Given the description of an element on the screen output the (x, y) to click on. 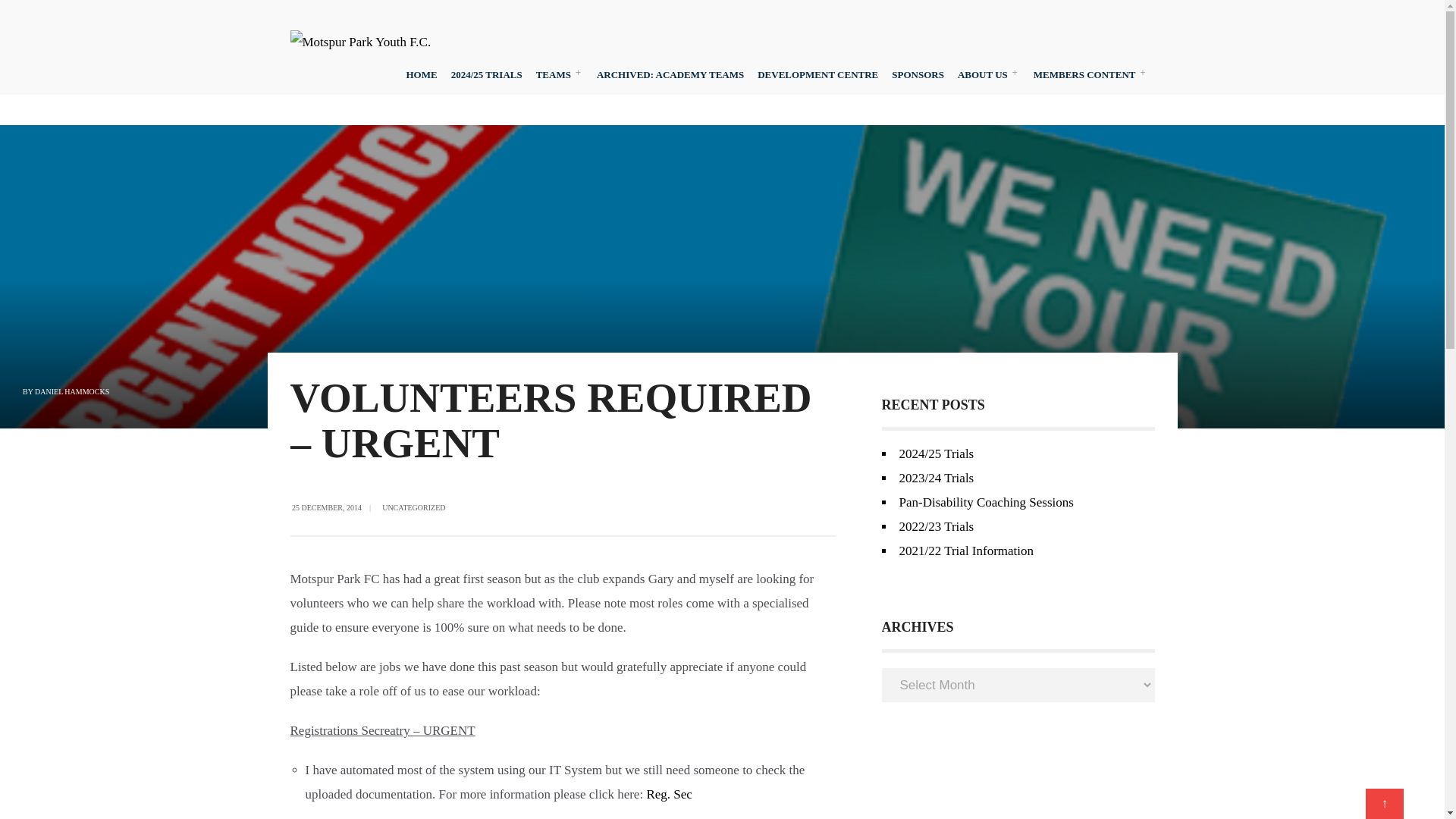
TEAMS (559, 74)
HOME (421, 74)
Posts by Daniel Hammocks (71, 391)
Scroll to top (1384, 803)
Position Vacant (668, 794)
